Given the description of an element on the screen output the (x, y) to click on. 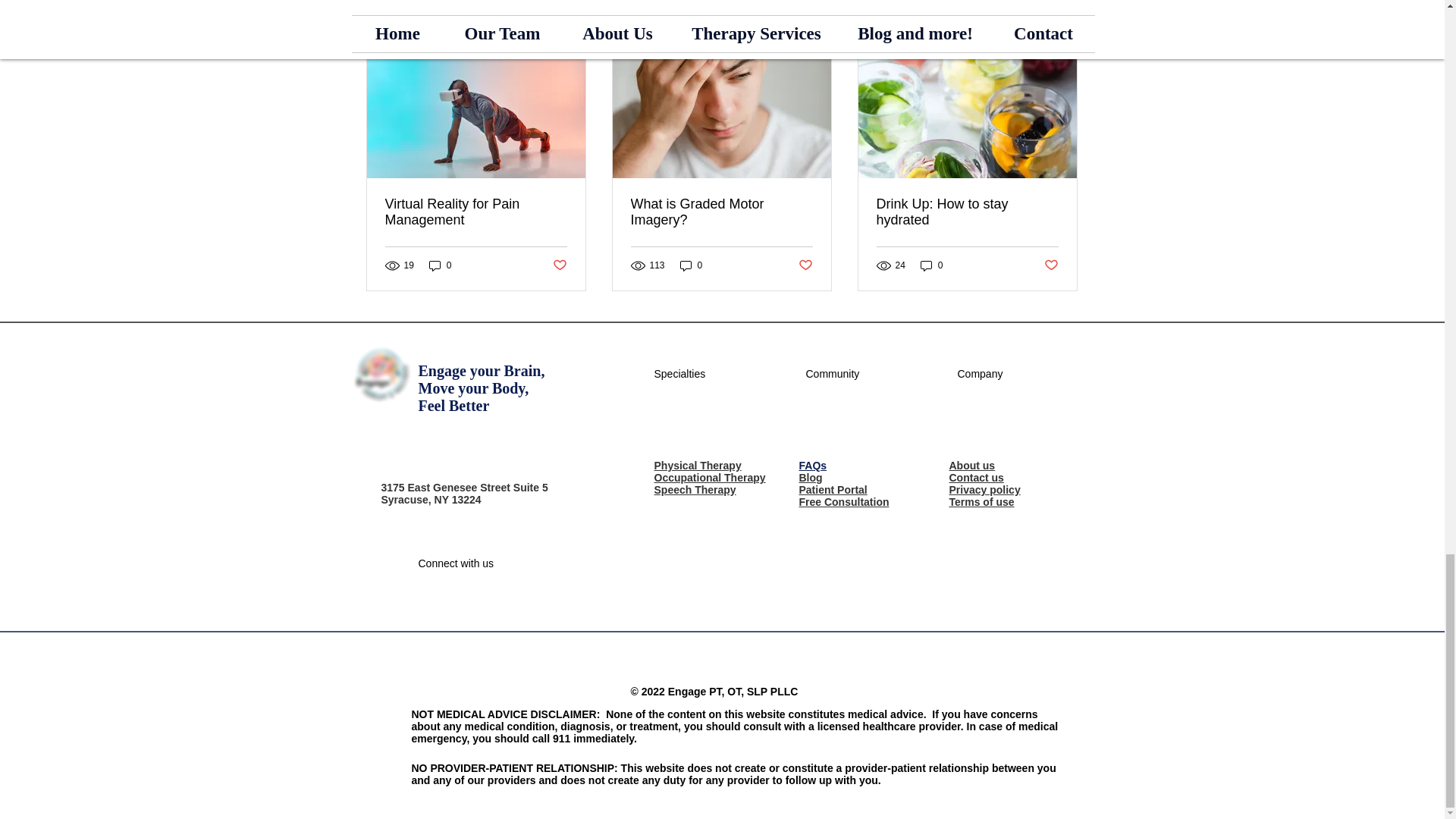
Engage business logo.png (380, 374)
